Given the description of an element on the screen output the (x, y) to click on. 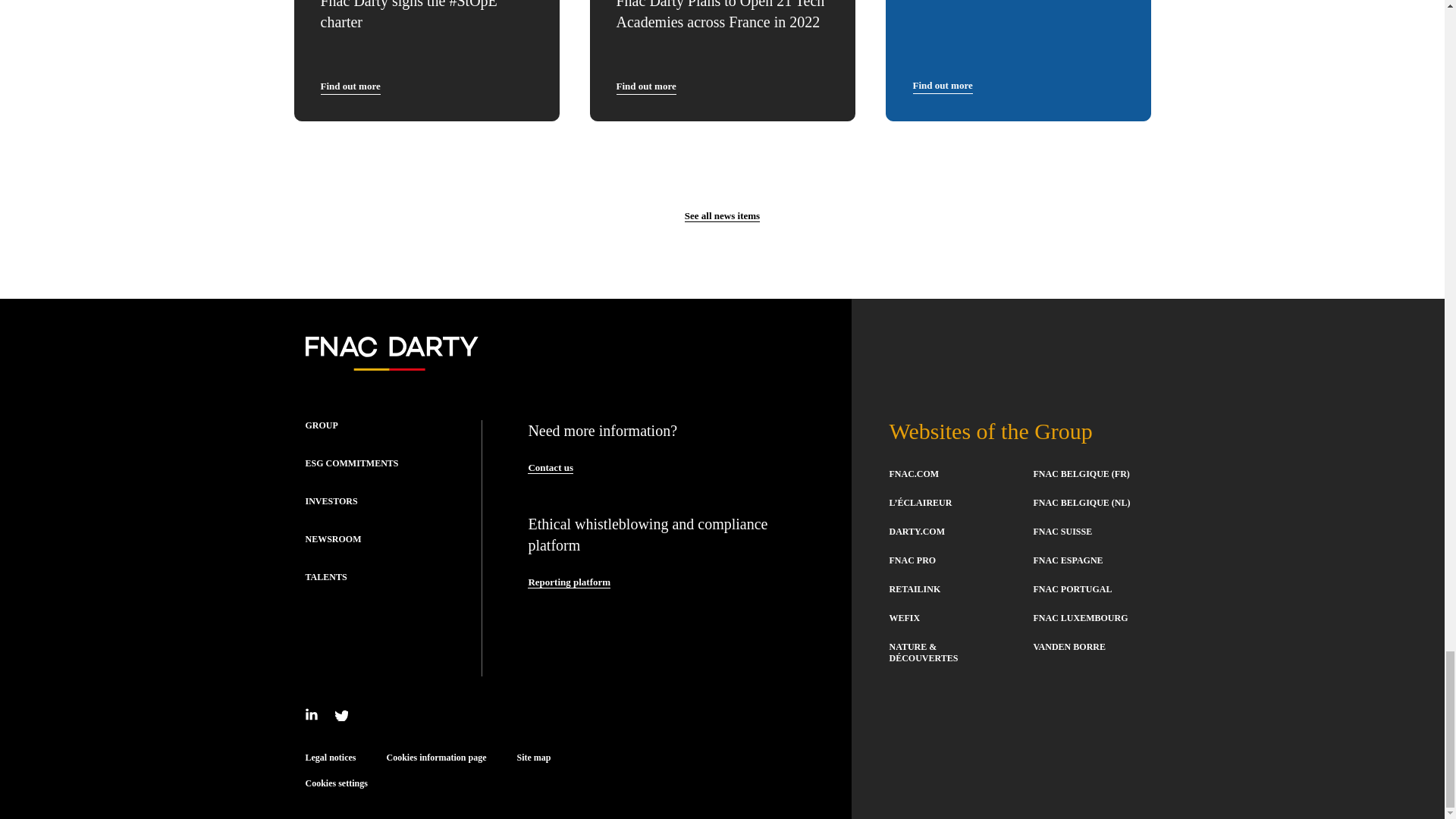
Find out more (942, 85)
Find out more (350, 86)
See all news items (722, 215)
Fnac Darty (390, 365)
Find out more (645, 86)
